Given the description of an element on the screen output the (x, y) to click on. 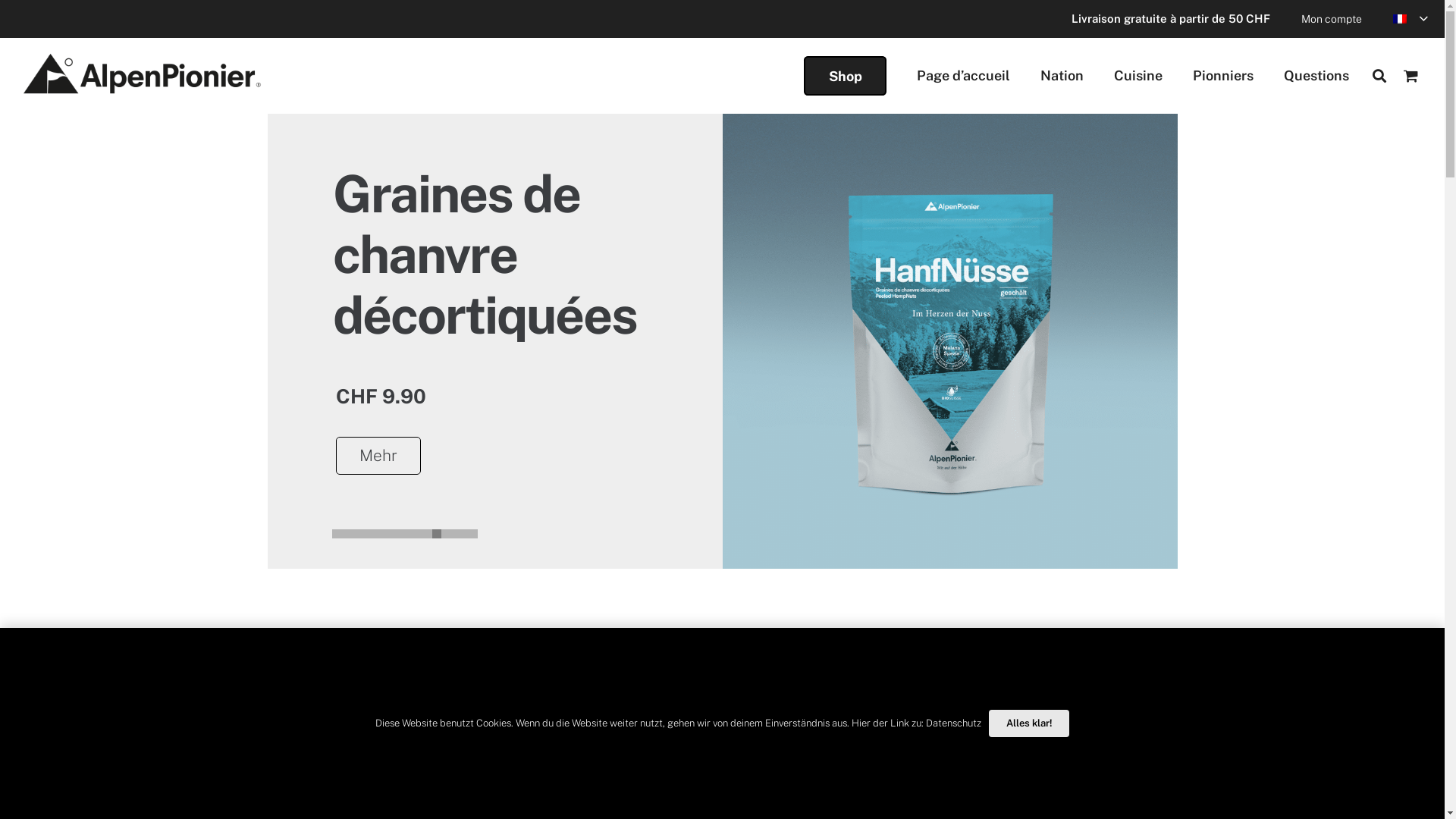
Pionniers Element type: text (1222, 75)
Nation Element type: text (1061, 75)
Mehr Element type: text (377, 455)
Questions Element type: text (1316, 75)
Mon compte Element type: text (1331, 18)
Alles klar! Element type: text (1029, 723)
Shop Element type: text (844, 75)
Datenschutz Element type: text (953, 722)
Cuisine Element type: text (1137, 75)
